Given the description of an element on the screen output the (x, y) to click on. 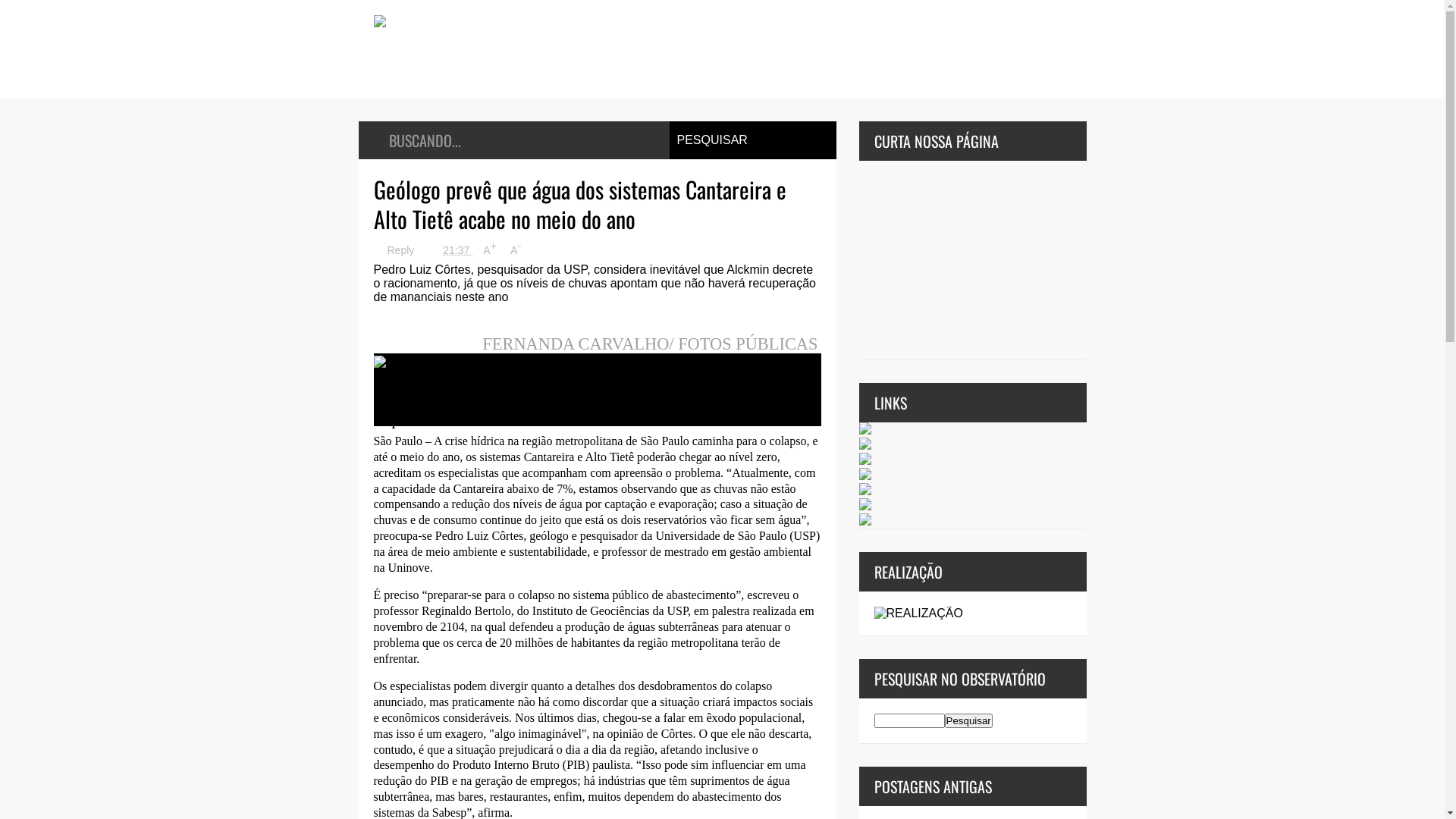
21:37 Element type: text (449, 250)
A+ Element type: text (489, 250)
cantareira zerada.jpg Element type: hover (449, 362)
A- Element type: text (515, 250)
search Element type: hover (968, 720)
Reply Element type: text (395, 250)
search Element type: hover (908, 720)
Pesquisar Element type: text (968, 720)
